Given the description of an element on the screen output the (x, y) to click on. 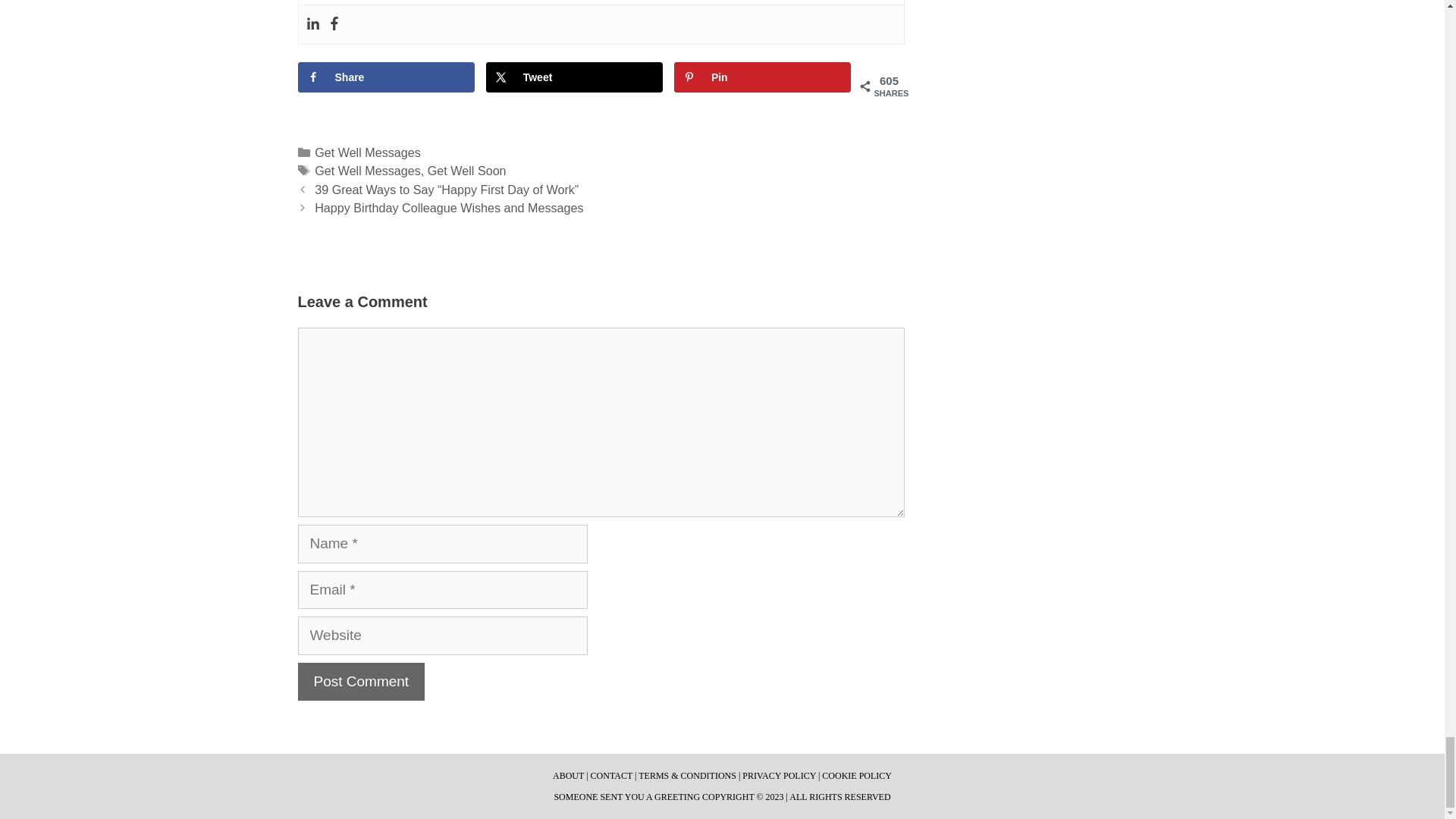
Save to Pinterest (762, 77)
Post Comment (361, 681)
Facebook (333, 24)
Share on Facebook (385, 77)
Linkedin (312, 24)
Share on X (574, 77)
